Given the description of an element on the screen output the (x, y) to click on. 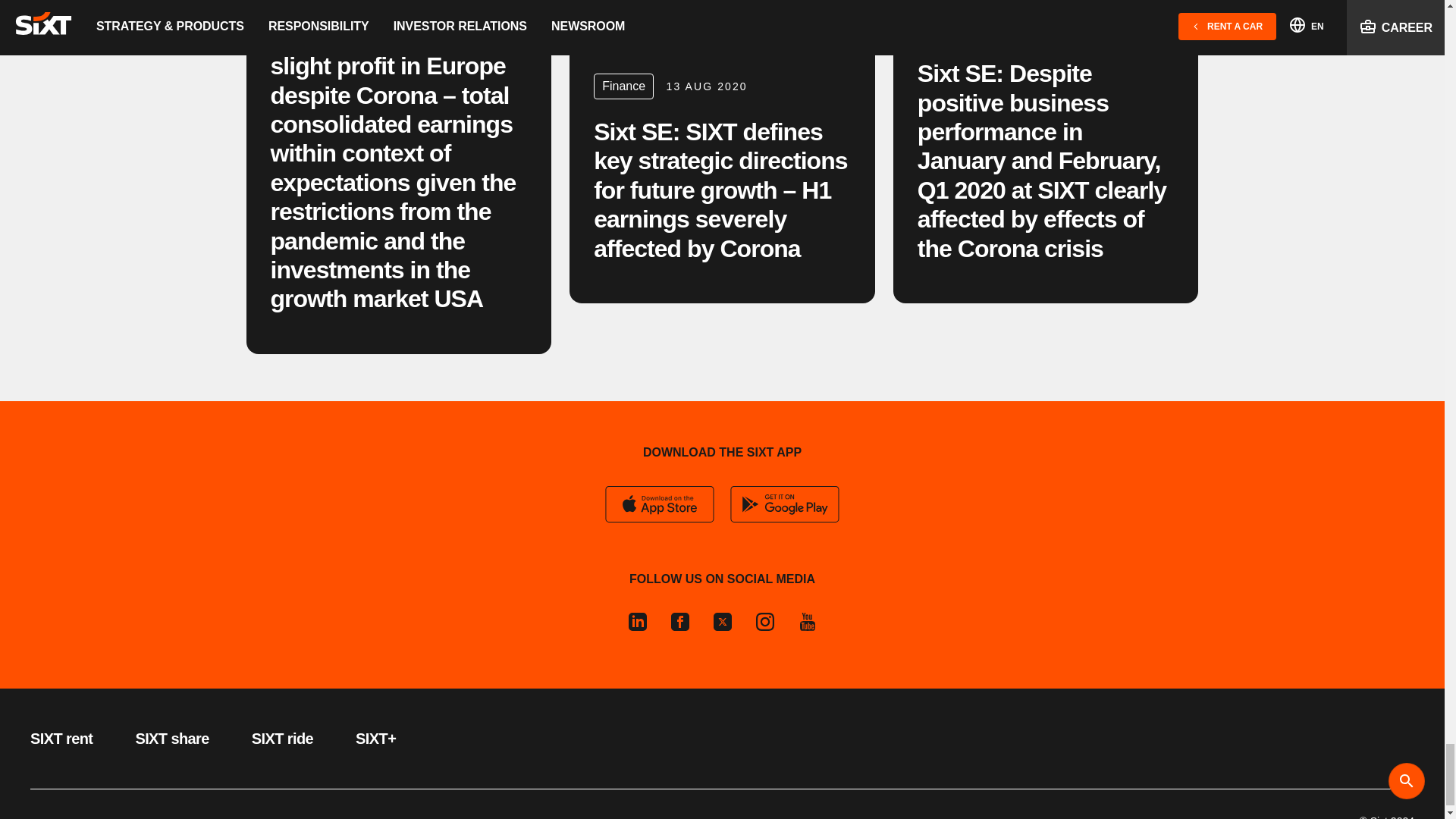
YouTube (800, 621)
Twitter (721, 621)
SIXT rent (61, 738)
Facebook (679, 621)
LinkedIn (642, 621)
SIXT ride (282, 738)
SIXT share (171, 738)
Instagram (764, 621)
